Given the description of an element on the screen output the (x, y) to click on. 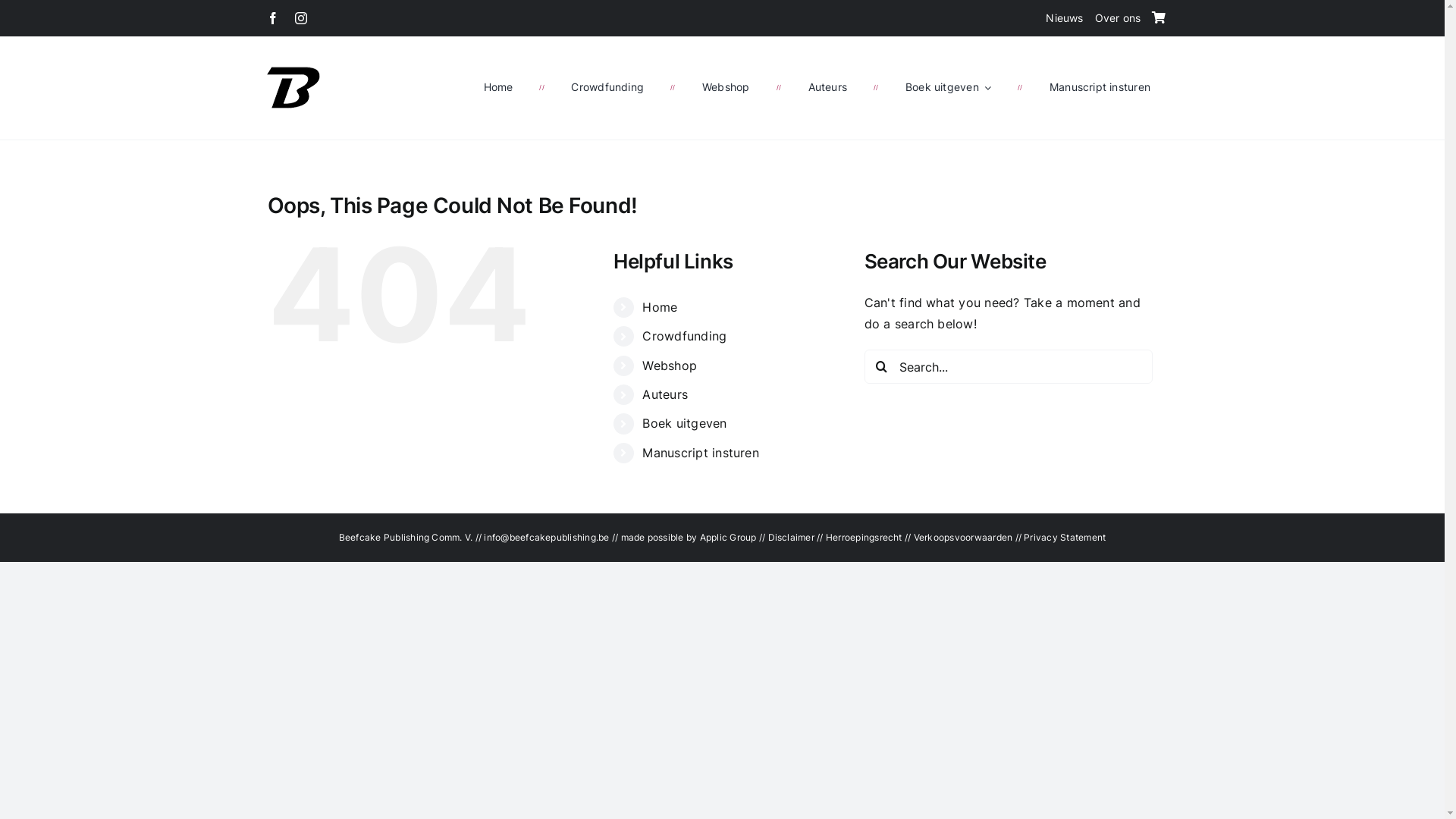
Auteurs Element type: text (664, 393)
Home Element type: text (659, 306)
Webshop Element type: text (725, 87)
Privacy Statement Element type: text (1064, 536)
Manuscript insturen Element type: text (700, 452)
Boek uitgeven Element type: text (684, 422)
Nieuws Element type: text (1063, 17)
Verkoopsvoorwaarden Element type: text (963, 536)
Manuscript insturen Element type: text (1099, 87)
Webshop Element type: text (669, 365)
Disclaimer Element type: text (789, 536)
info@beefcakepublishing.be Element type: text (547, 536)
Home Element type: text (498, 87)
Crowdfunding Element type: text (607, 87)
Over ons Element type: text (1118, 17)
Herroepingsrecht Element type: text (863, 536)
Crowdfunding Element type: text (684, 335)
Applic Group Element type: text (727, 536)
Boek uitgeven Element type: text (948, 87)
Auteurs Element type: text (827, 87)
